Given the description of an element on the screen output the (x, y) to click on. 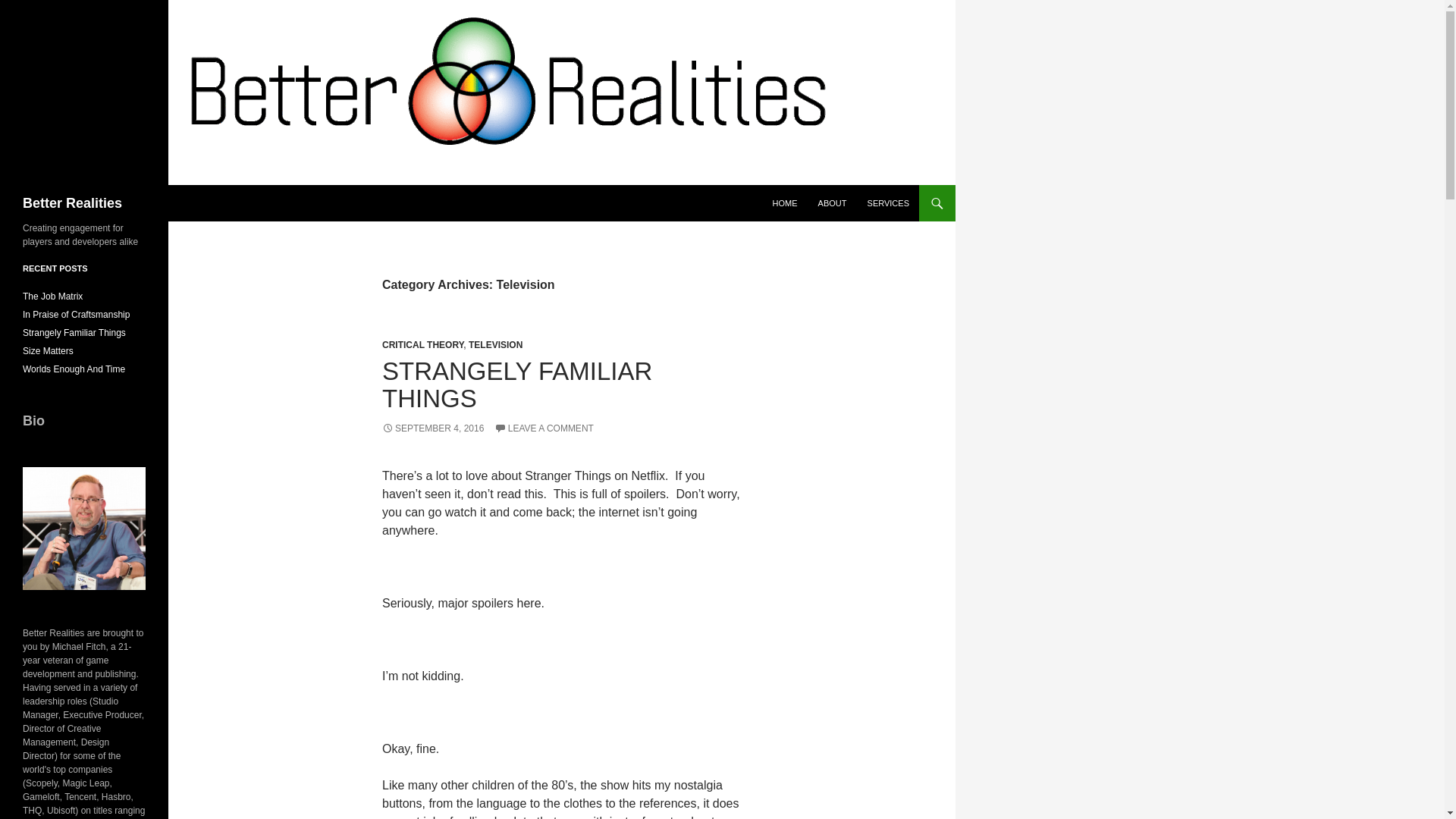
SERVICES (888, 203)
In Praise of Craftsmanship (76, 314)
Strangely Familiar Things (74, 332)
ABOUT (832, 203)
TELEVISION (495, 344)
Size Matters (48, 350)
STRANGELY FAMILIAR THINGS (516, 384)
Better Realities (72, 203)
SEPTEMBER 4, 2016 (432, 428)
Worlds Enough And Time (74, 368)
